Given the description of an element on the screen output the (x, y) to click on. 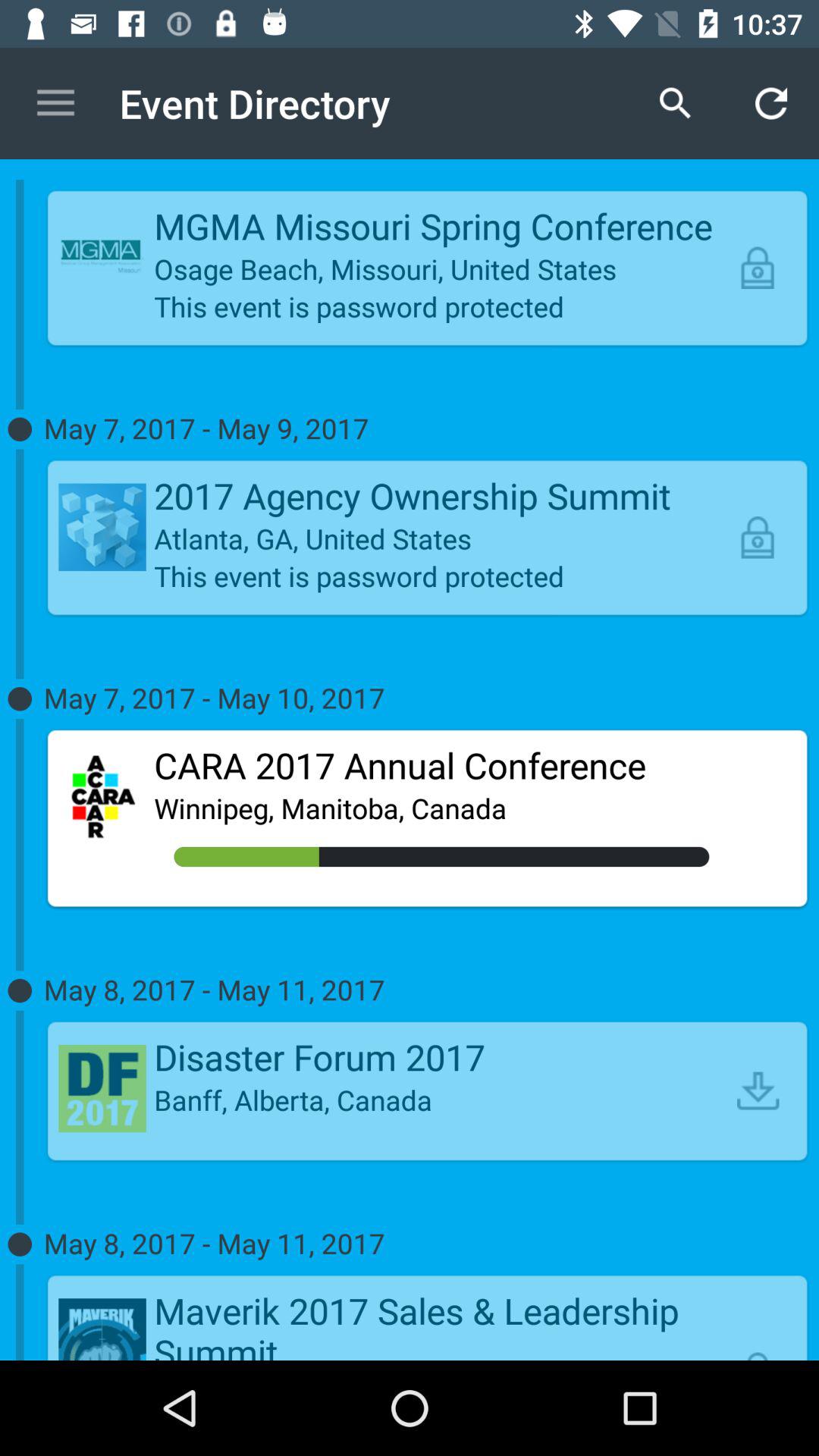
open the item to the right of event directory icon (675, 103)
